Given the description of an element on the screen output the (x, y) to click on. 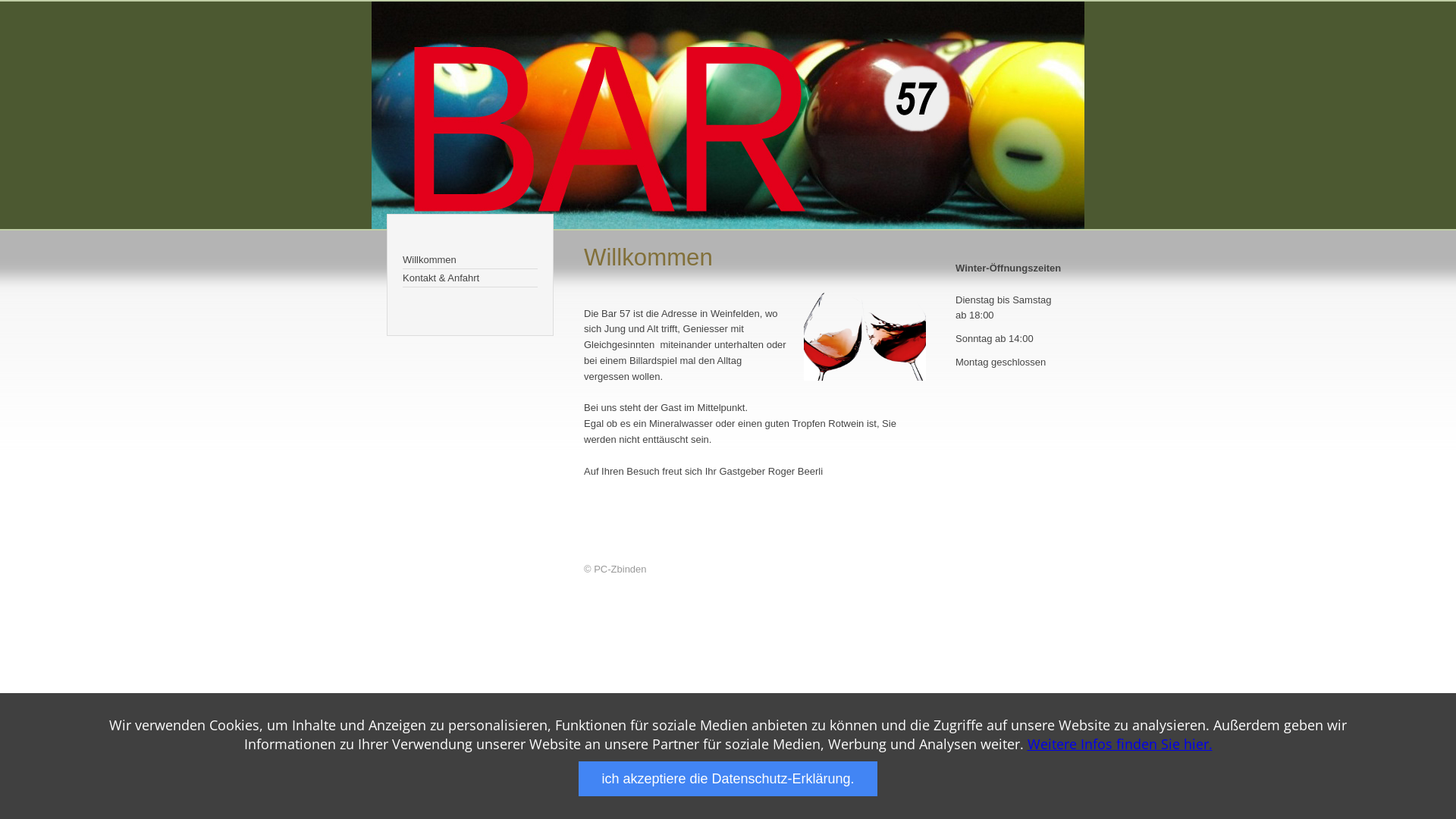
Willkommen Element type: text (469, 260)
Weitere Infos finden Sie hier. Element type: text (1118, 743)
Kontakt & Anfahrt Element type: text (469, 278)
